Given the description of an element on the screen output the (x, y) to click on. 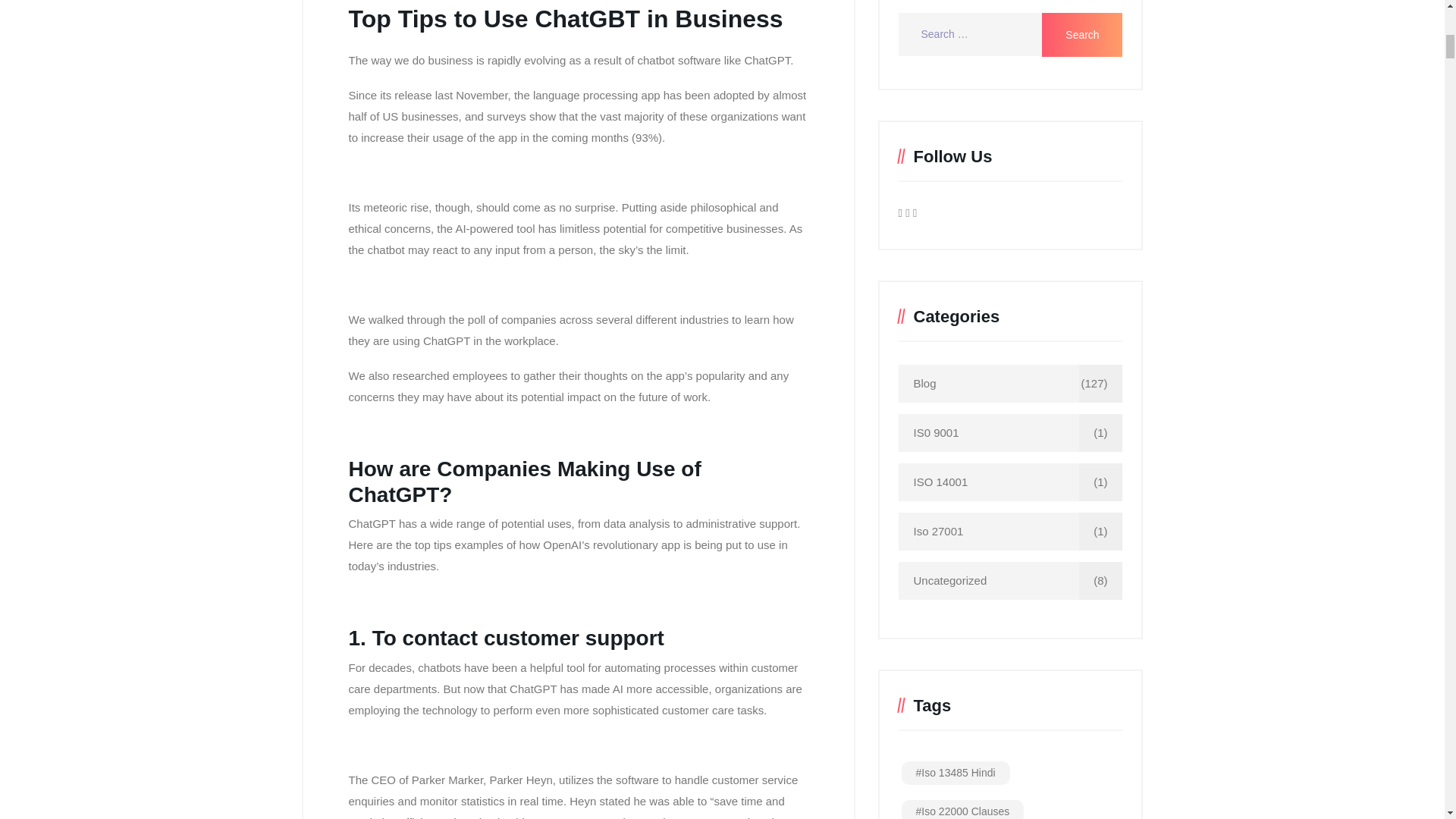
Search (1082, 34)
Search (1082, 34)
